Given the description of an element on the screen output the (x, y) to click on. 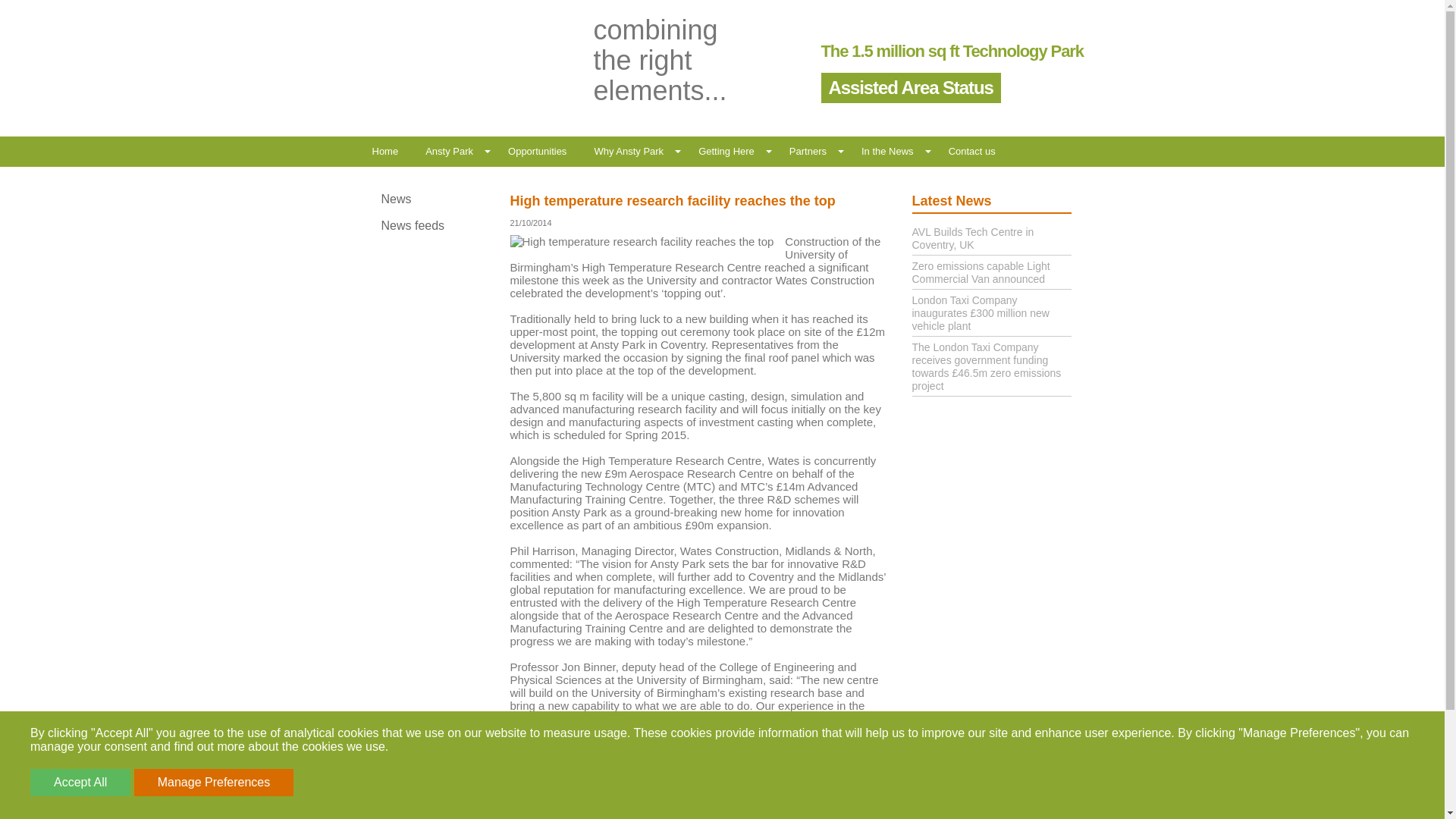
Home (385, 151)
AVL Builds Tech Centre in Coventry, UK (972, 238)
Why Ansty Park (628, 151)
Partners (807, 151)
Zero emissions capable Light Commercial Van announced (980, 272)
Ansty Park (448, 151)
In the News (887, 151)
Opportunities (536, 151)
Getting Here (725, 151)
News (433, 198)
